Given the description of an element on the screen output the (x, y) to click on. 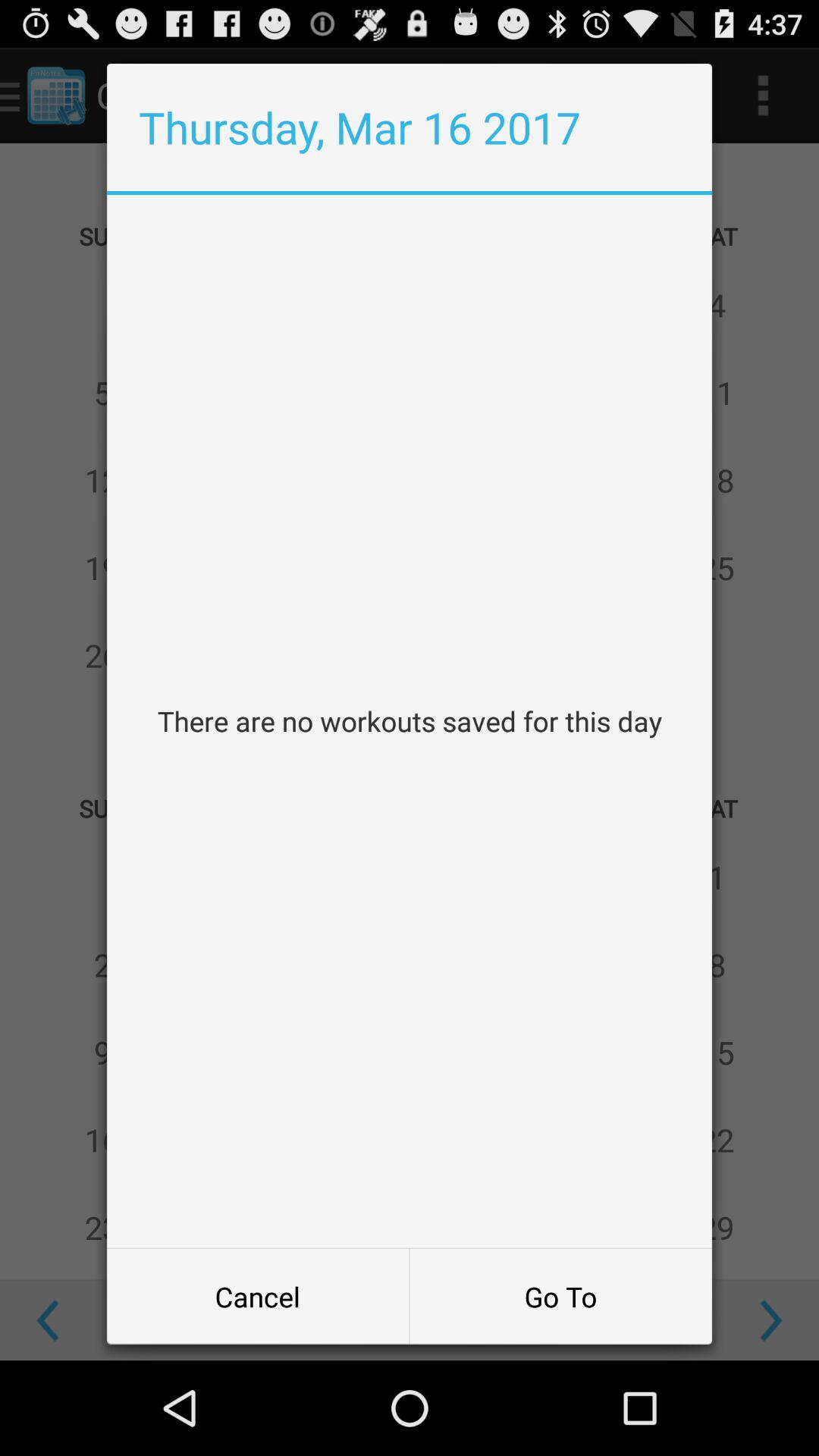
turn on app below the there are no item (561, 1296)
